Given the description of an element on the screen output the (x, y) to click on. 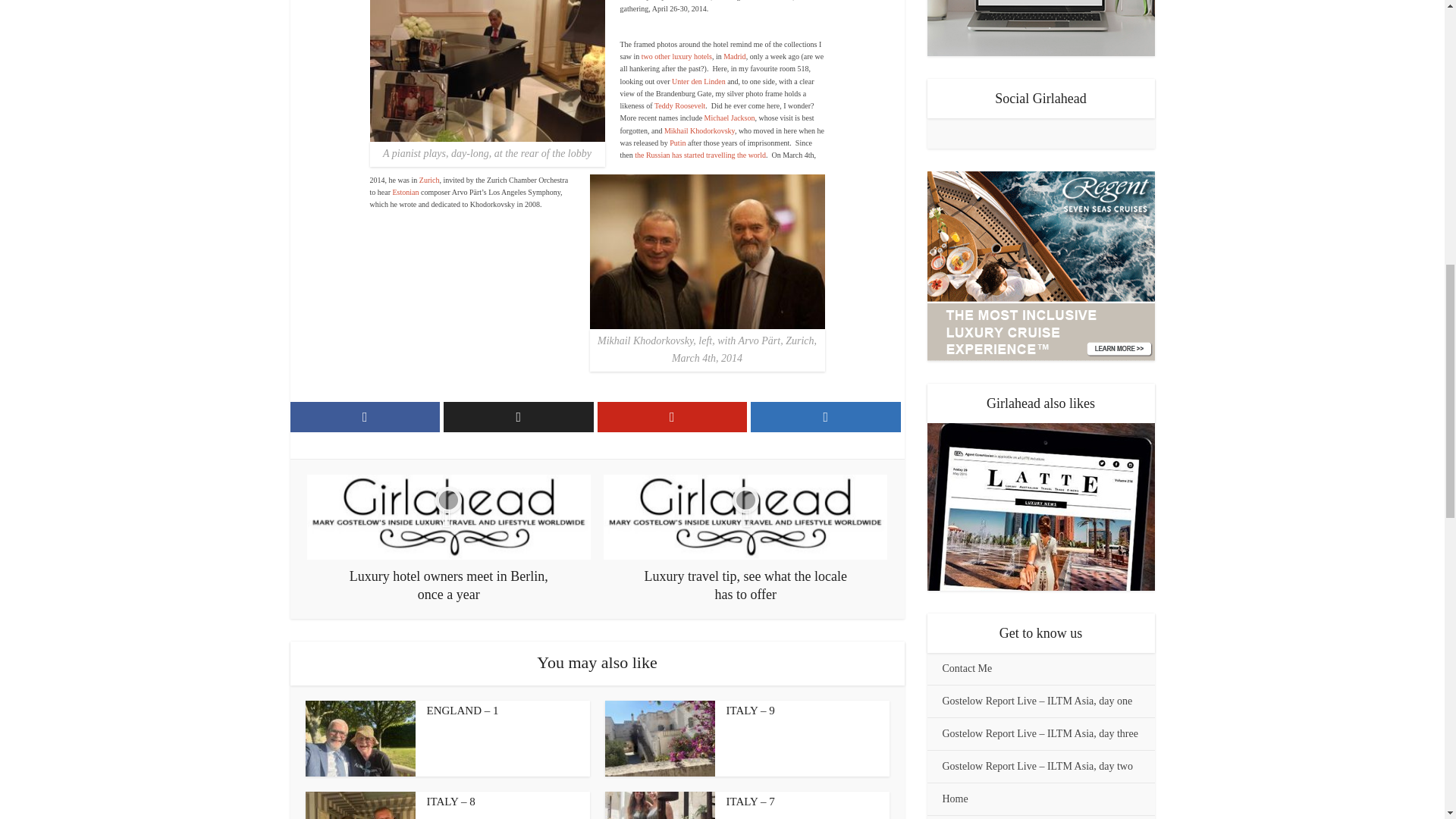
A luxury Ritz hotel inspired by a king (734, 56)
A stay that is pure gold at the luxury Hotel Adlon Kempinski (698, 80)
Back in another Madrid luxury hotel, ancient and modern (676, 56)
